Given the description of an element on the screen output the (x, y) to click on. 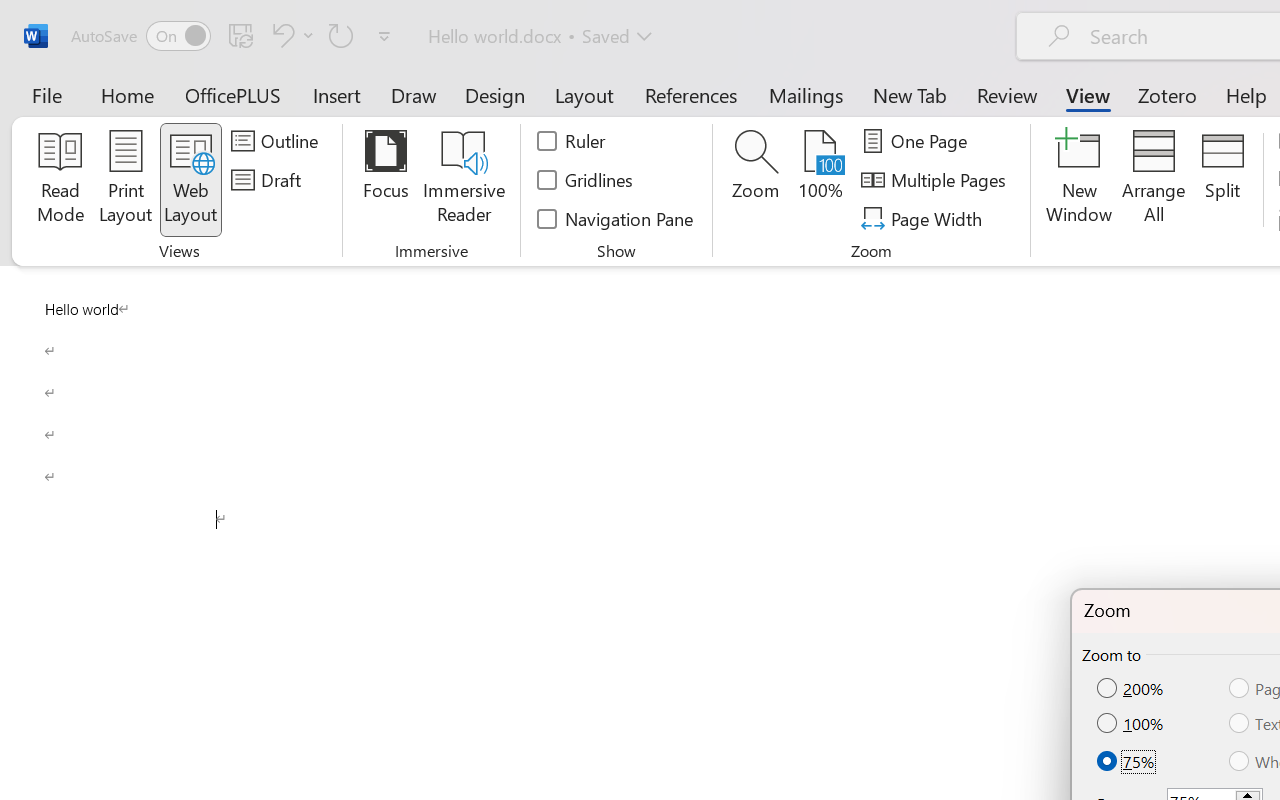
Split (1222, 179)
Read Mode (60, 179)
200% (1131, 689)
More Options (308, 35)
One Page (917, 141)
Can't Repeat (341, 35)
Navigation Pane (616, 218)
Web Layout (190, 179)
New Tab (909, 94)
Design (495, 94)
Customize Quick Access Toolbar (384, 35)
OfficePLUS (233, 94)
Arrange All (1153, 179)
